Given the description of an element on the screen output the (x, y) to click on. 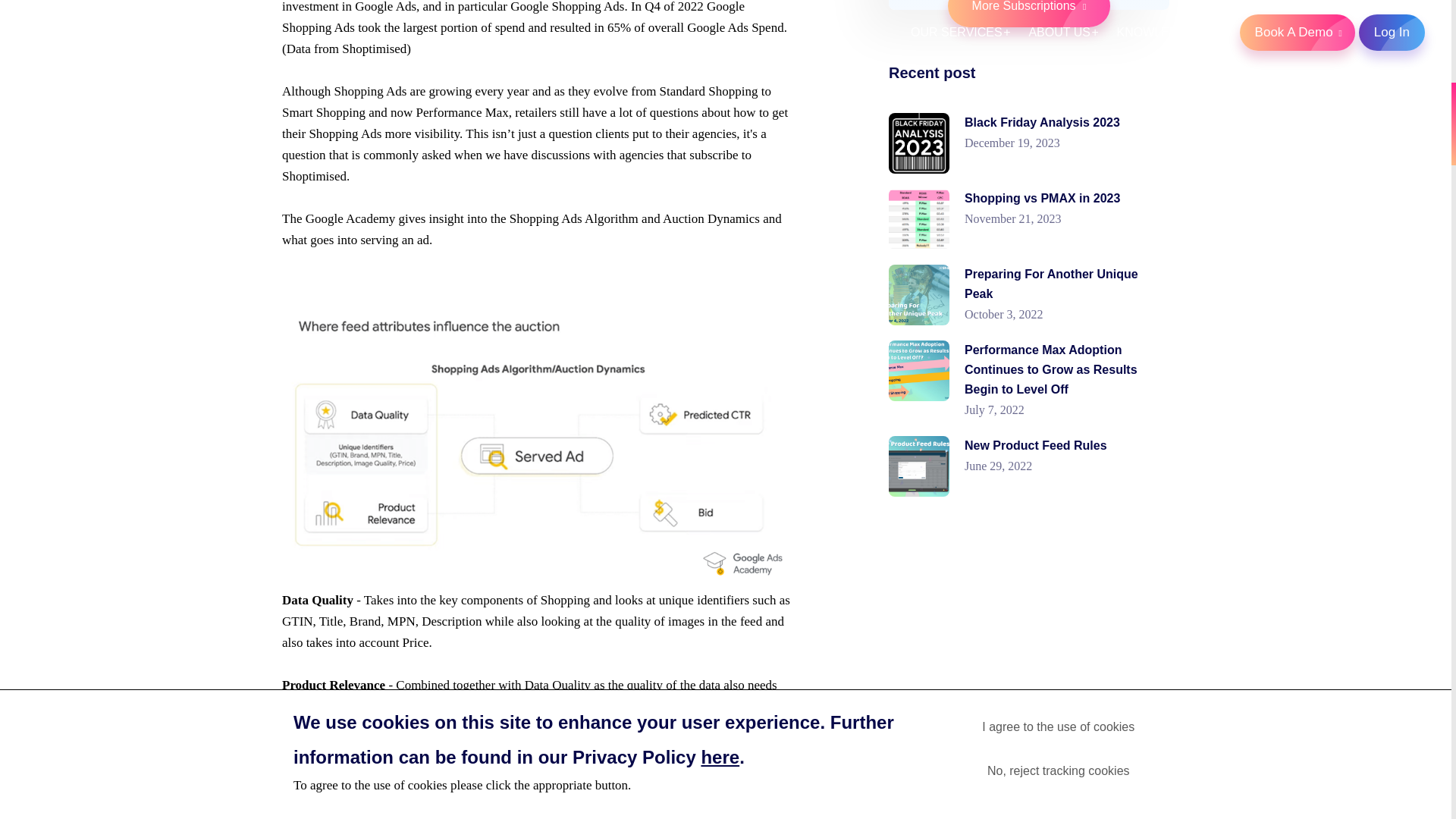
More Subscriptions (1028, 13)
Preparing For Another Unique Peak (1050, 283)
Black Friday Analysis 2023 (1041, 122)
New Product Feed Rules (1034, 445)
Shopping vs PMAX in 2023 (1041, 197)
